Given the description of an element on the screen output the (x, y) to click on. 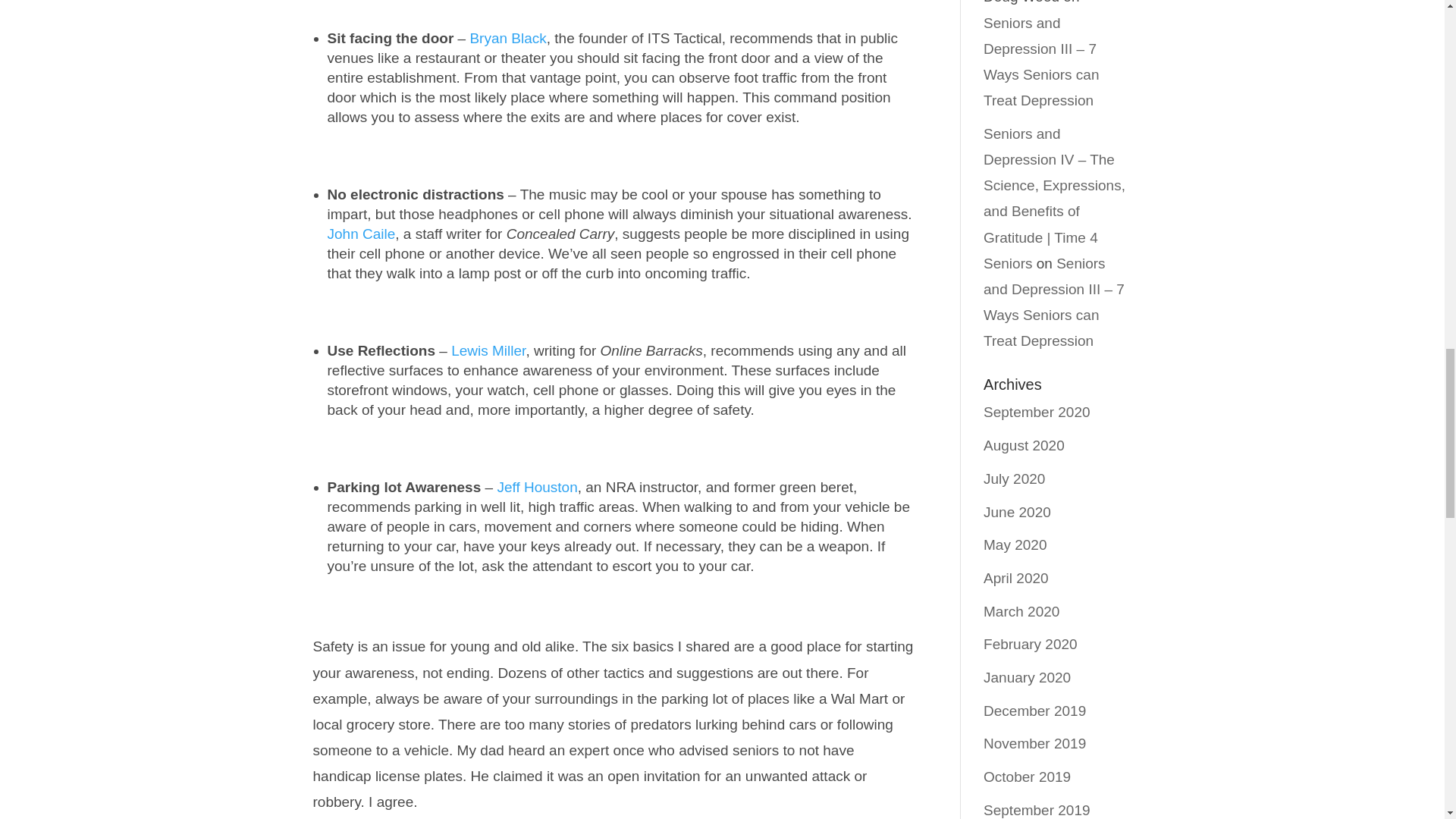
September 2020 (1037, 412)
Lewis Miller (488, 350)
Jeff Houston (536, 487)
John Caile (361, 233)
Bryan Black (507, 37)
August 2020 (1024, 445)
July 2020 (1014, 478)
